Given the description of an element on the screen output the (x, y) to click on. 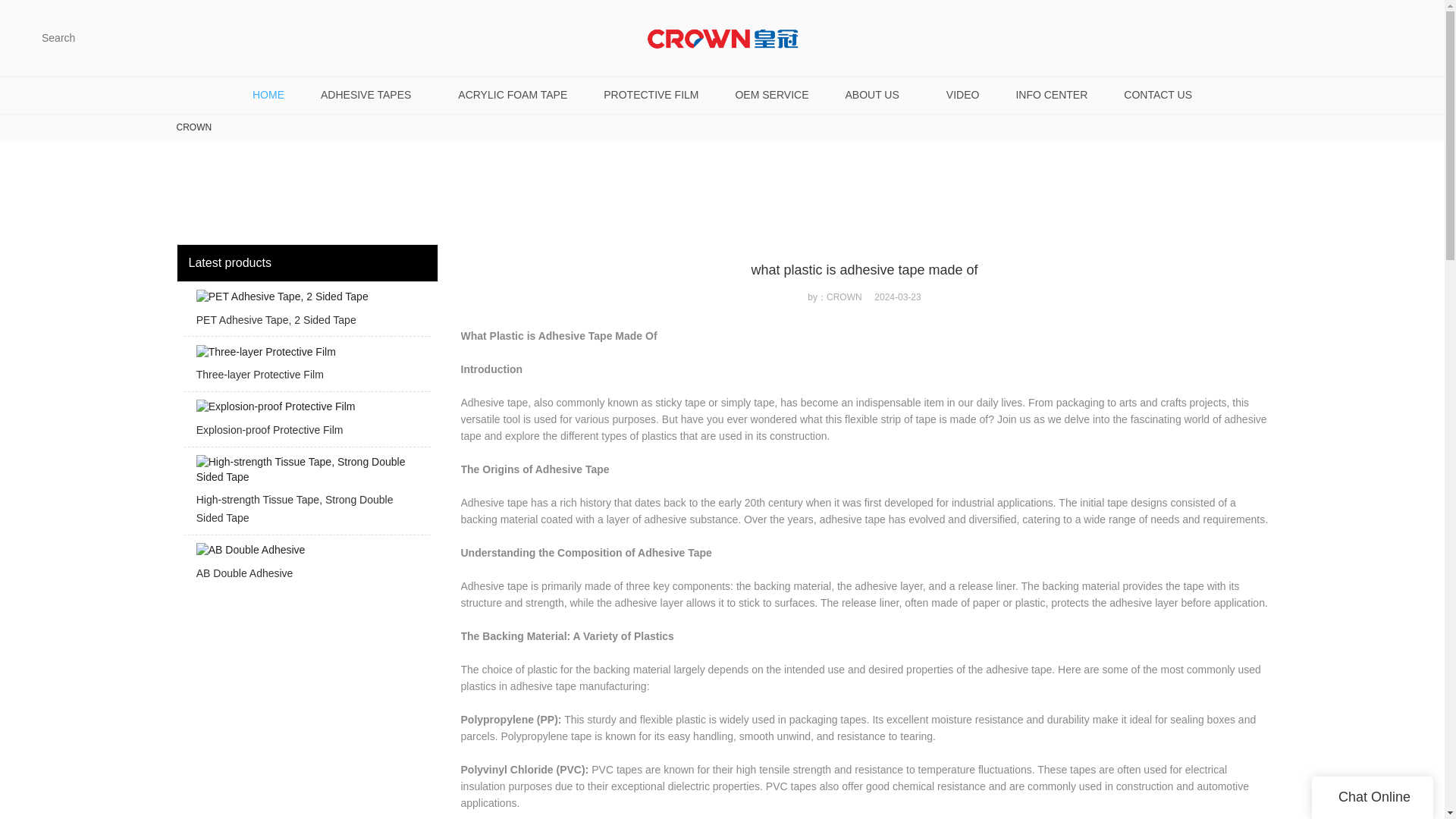
INFO CENTER (1051, 94)
PROTECTIVE FILM (650, 94)
VIDEO (962, 94)
CROWN (193, 127)
ACRYLIC FOAM TAPE (512, 94)
High-strength Tissue Tape, Strong Double Sided Tape (306, 494)
ABOUT US (877, 94)
ADHESIVE TAPES (370, 94)
CONTACT US (1157, 94)
AB Double Adhesive (306, 565)
